Given the description of an element on the screen output the (x, y) to click on. 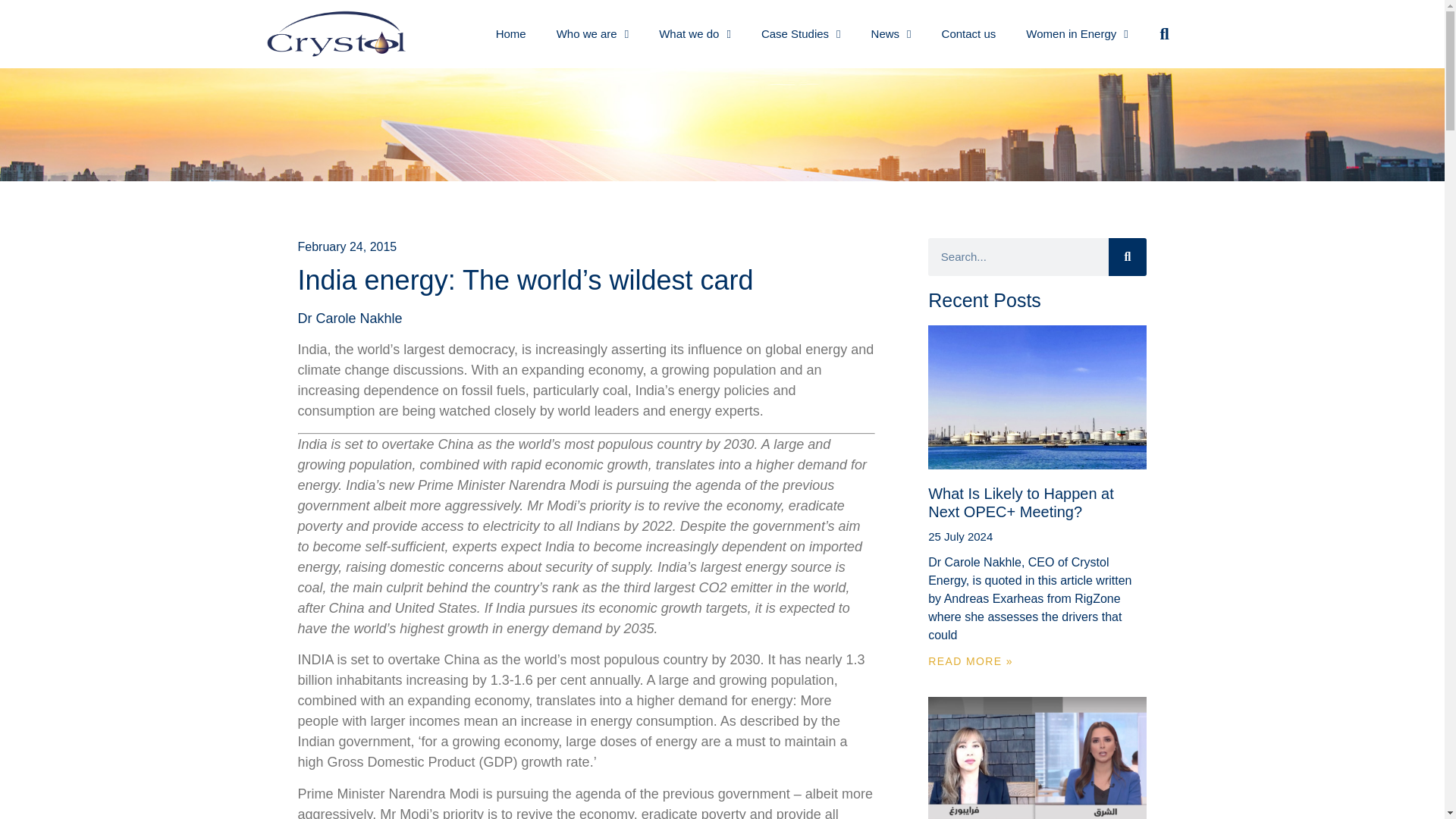
Case Studies (800, 33)
News (891, 33)
Home (510, 33)
Who we are (593, 33)
Women in Energy (1076, 33)
What we do (694, 33)
Contact us (968, 33)
